Given the description of an element on the screen output the (x, y) to click on. 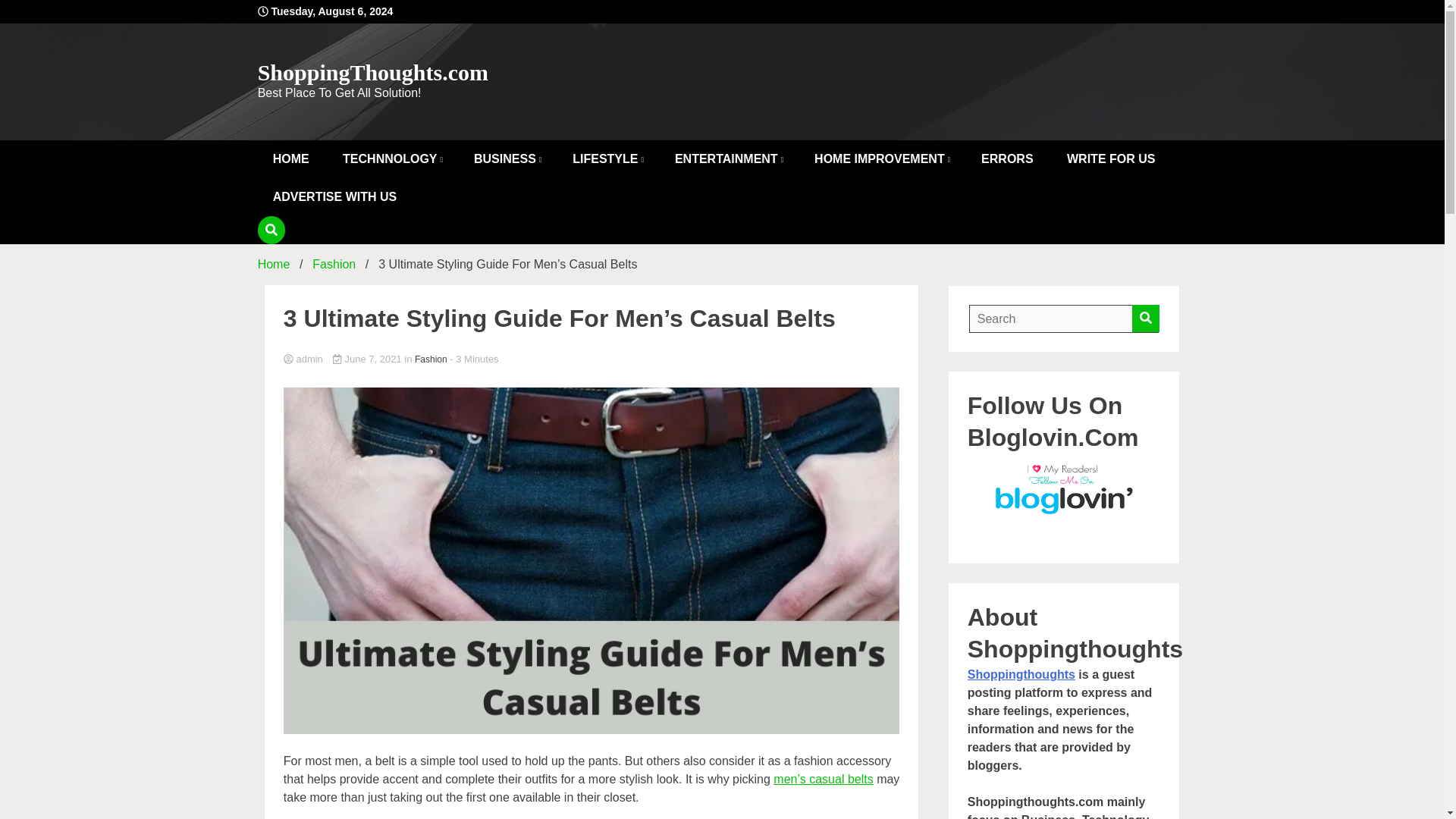
ADVERTISE WITH US (334, 197)
HOME (290, 159)
admin (591, 359)
Home (273, 264)
Fashion (334, 264)
Fashion (430, 359)
ShoppingThoughts.com (372, 72)
HOME IMPROVEMENT (880, 159)
WRITE FOR US (1110, 159)
Estimated Reading Time of Article (473, 358)
